Given the description of an element on the screen output the (x, y) to click on. 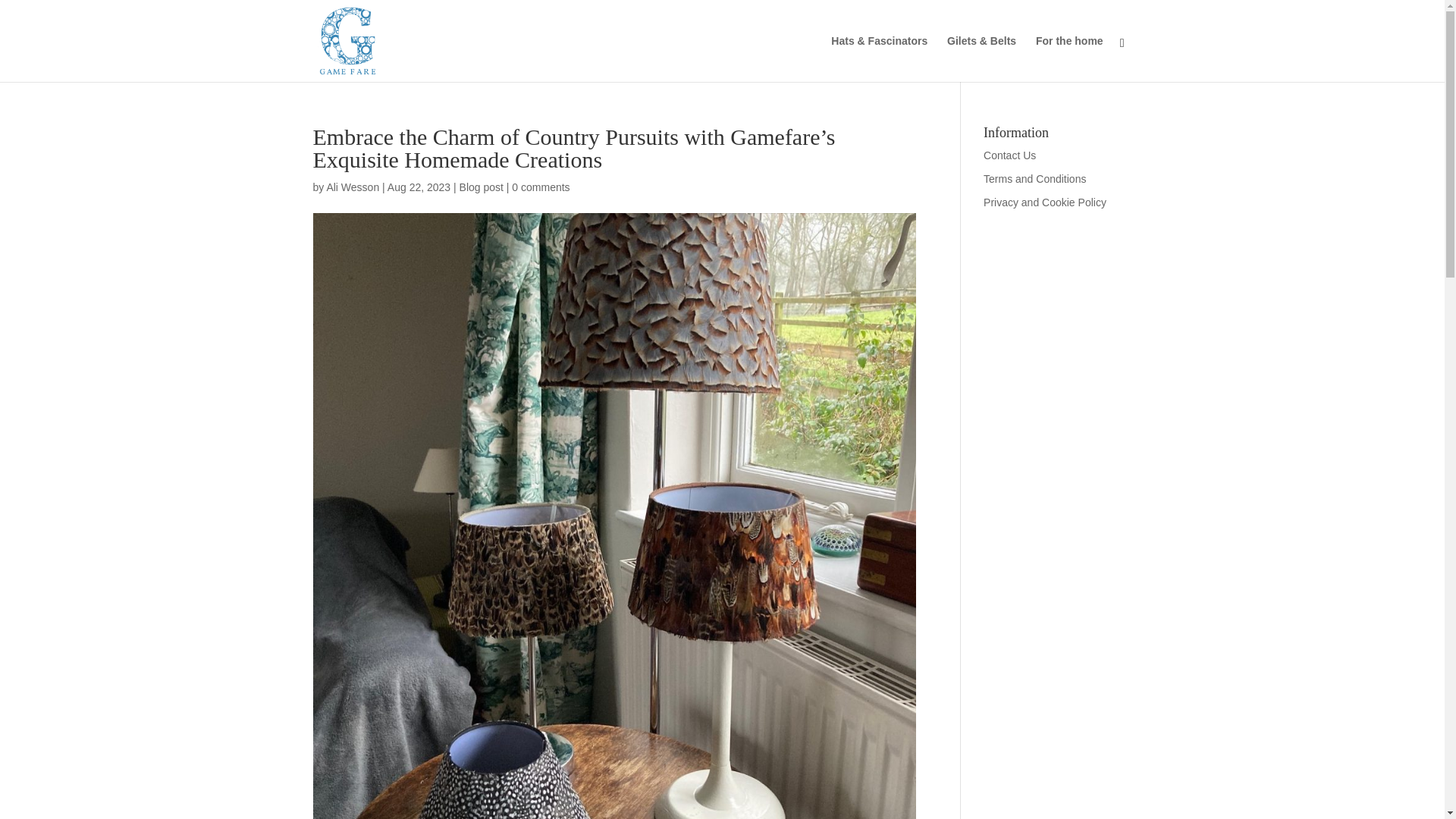
Privacy and Cookie Policy (1045, 202)
Posts by Ali Wesson (352, 186)
Blog post (481, 186)
For the home (1069, 58)
Contact Us (1009, 155)
0 comments (540, 186)
Ali Wesson (352, 186)
Terms and Conditions (1035, 178)
